Given the description of an element on the screen output the (x, y) to click on. 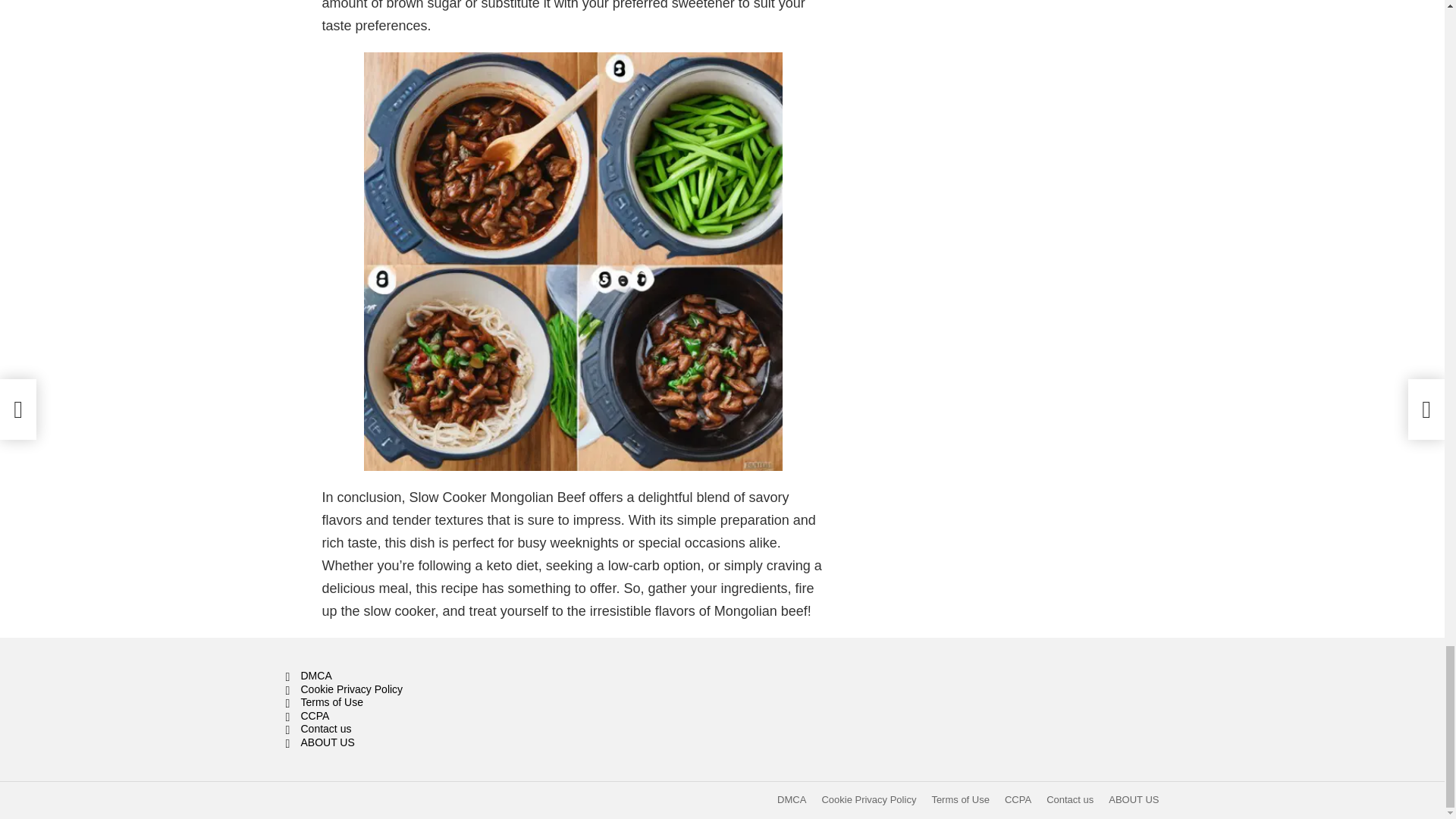
DMCA (791, 799)
Terms of Use (422, 703)
Terms of Use (960, 799)
Contact us (422, 729)
CCPA (422, 716)
ABOUT US (422, 743)
CCPA (1018, 799)
ABOUT US (1133, 799)
Contact us (1069, 799)
DMCA (422, 676)
